Given the description of an element on the screen output the (x, y) to click on. 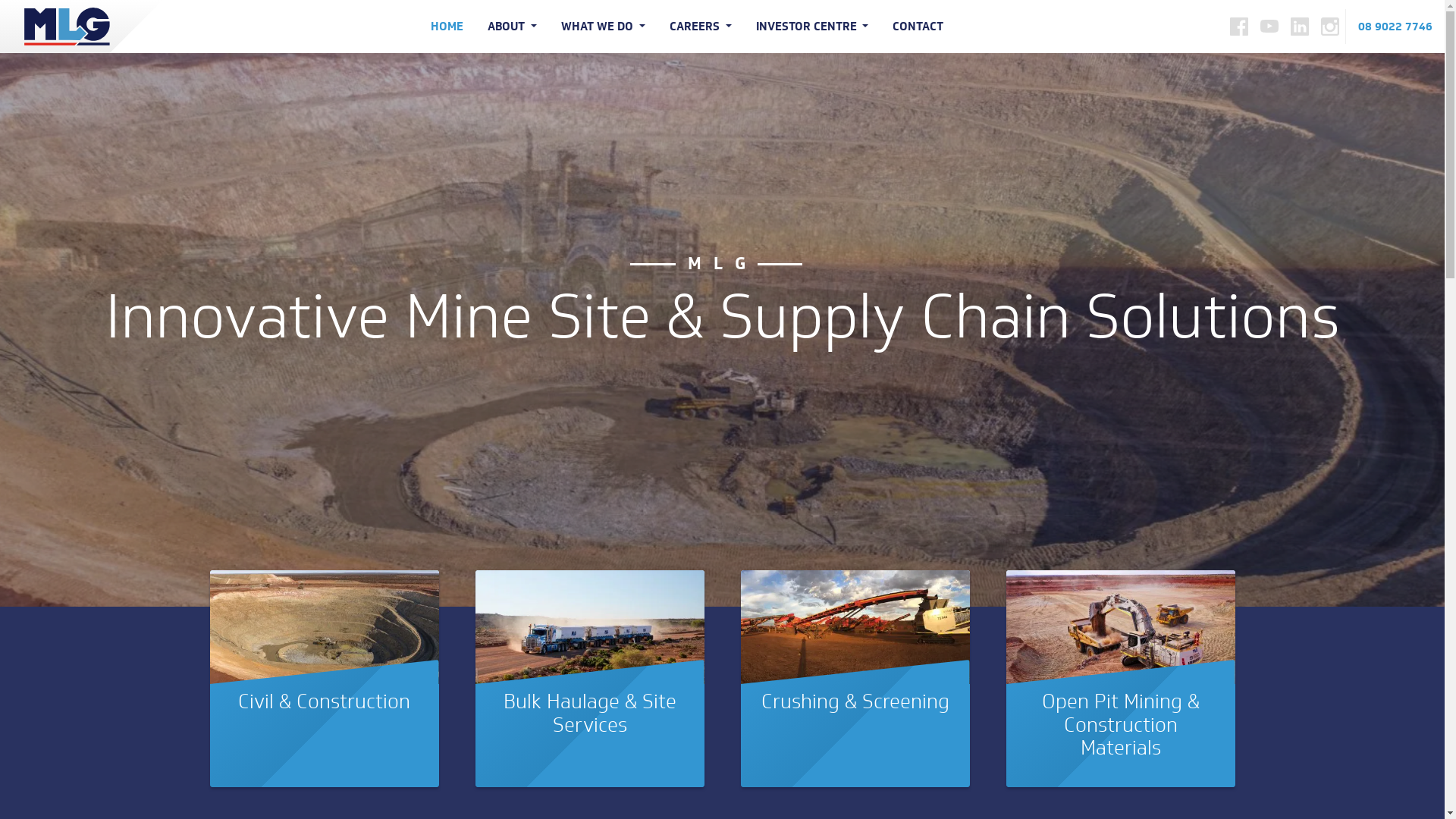
INVESTOR CENTRE Element type: text (812, 26)
Open Pit Mining & Construction Materials Element type: text (1120, 724)
FACEBOOK CREATED WITH SKETCH.
FOLLOW MLG OZ ON FACEBOOK Element type: text (1238, 26)
Bulk Haulage & Site Services Element type: text (589, 712)
MLG Oz Kalgoorlie Logo Element type: text (54, 26)
Crushing & Screening Element type: text (855, 701)
LINKEDIN CREATED WITH SKETCH.
FOLLOW MLG OZ ON LINKEDIN Element type: text (1299, 26)
08 9022 7746 Element type: text (1395, 26)
SUBSCRIBE TO OUR VIDEOS ON YOUTUBE Element type: text (1269, 25)
HOME Element type: text (452, 26)
Search Element type: text (46, 17)
WHAT WE DO Element type: text (603, 26)
CAREERS Element type: text (700, 26)
CONTACT Element type: text (917, 26)
Civil & Construction Element type: text (324, 701)
ABOUT Element type: text (512, 26)
